Given the description of an element on the screen output the (x, y) to click on. 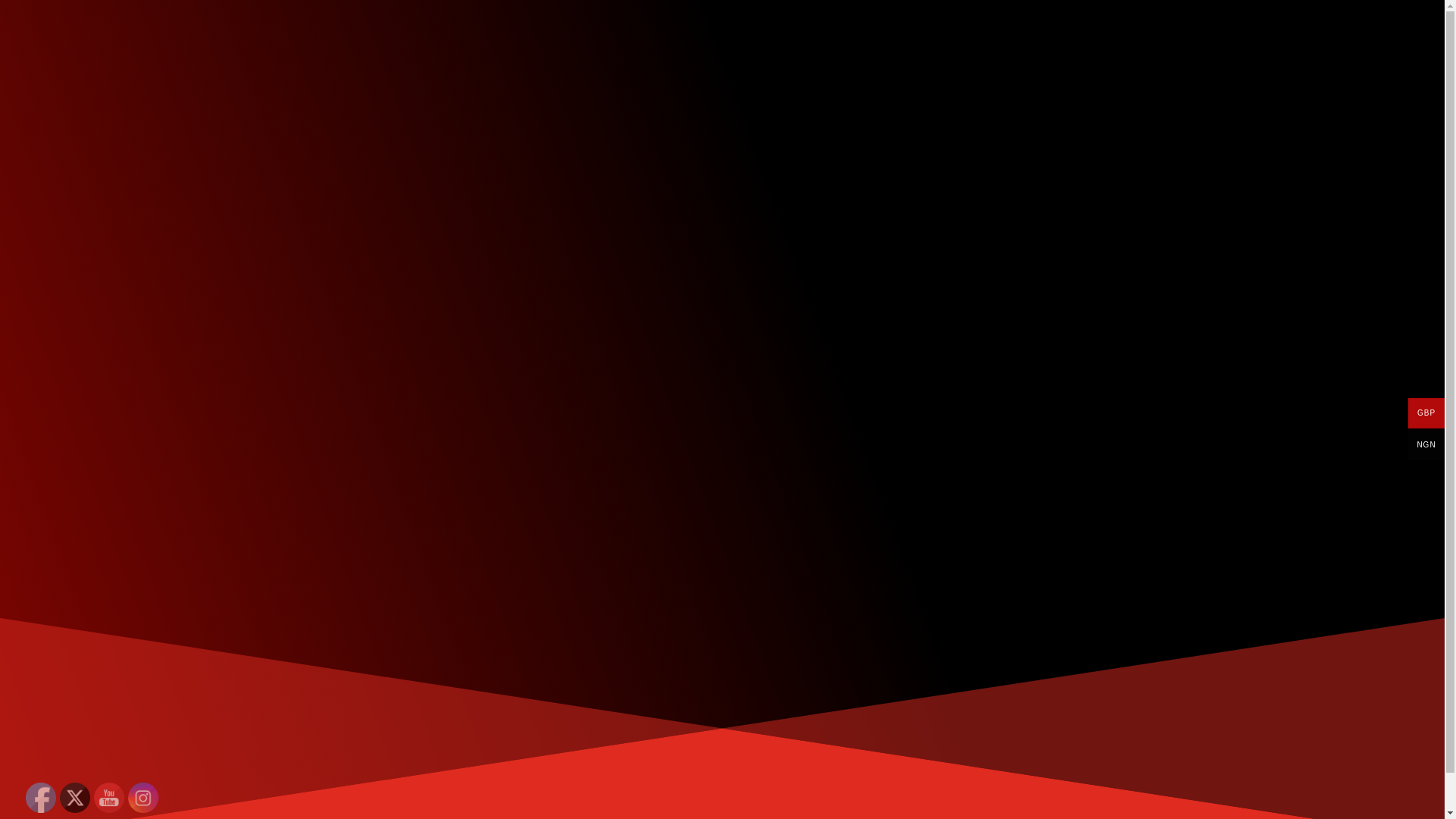
Twitter (74, 797)
Instagram (143, 797)
Facebook (41, 797)
YouTube (108, 797)
